Given the description of an element on the screen output the (x, y) to click on. 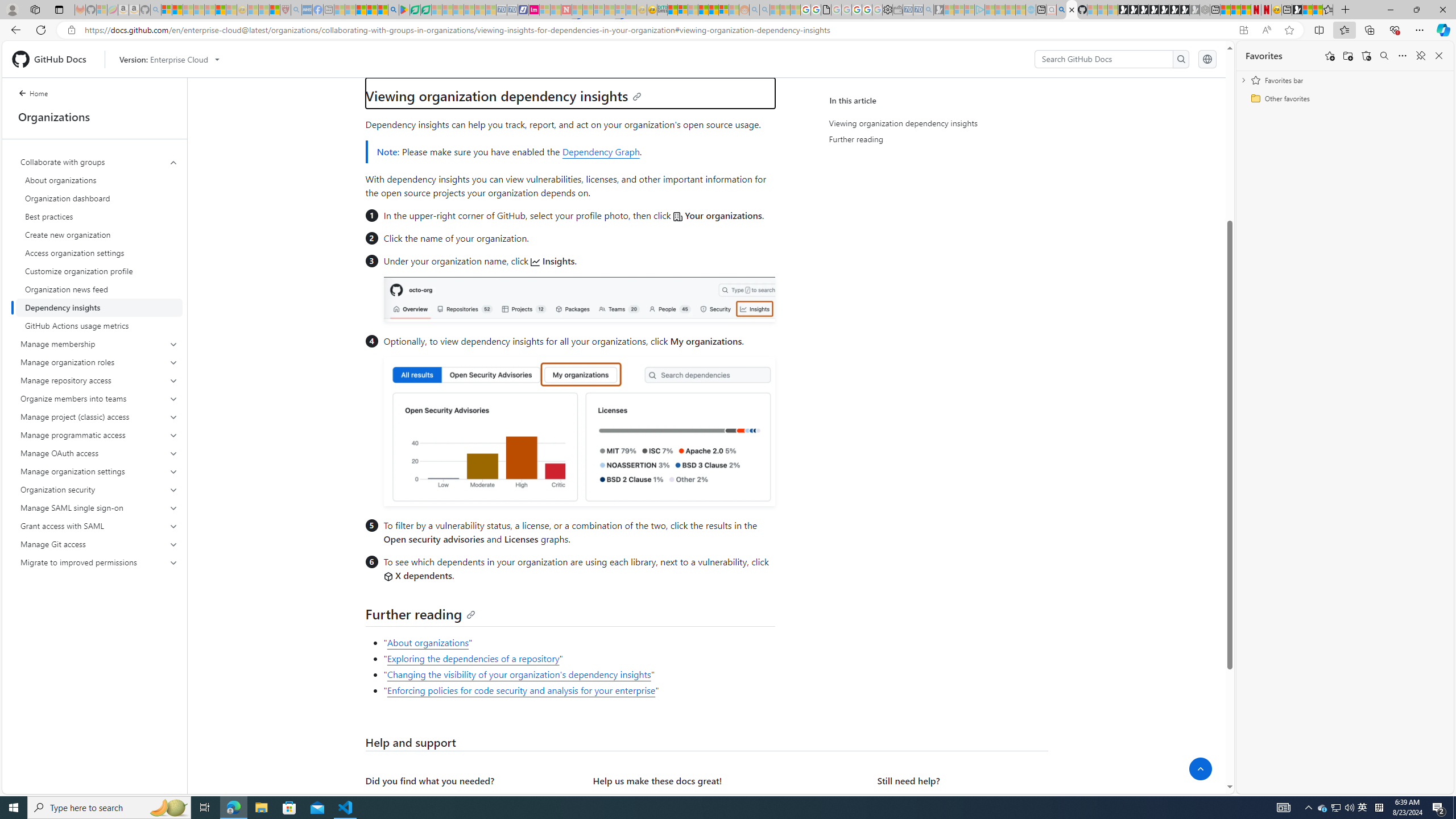
About organizations (99, 180)
Exploring the dependencies of a repository (473, 658)
Scroll to top (1200, 768)
Kinda Frugal - MSN (713, 9)
Best practices (99, 216)
Manage organization settings (99, 471)
Organization dashboard (99, 198)
